Given the description of an element on the screen output the (x, y) to click on. 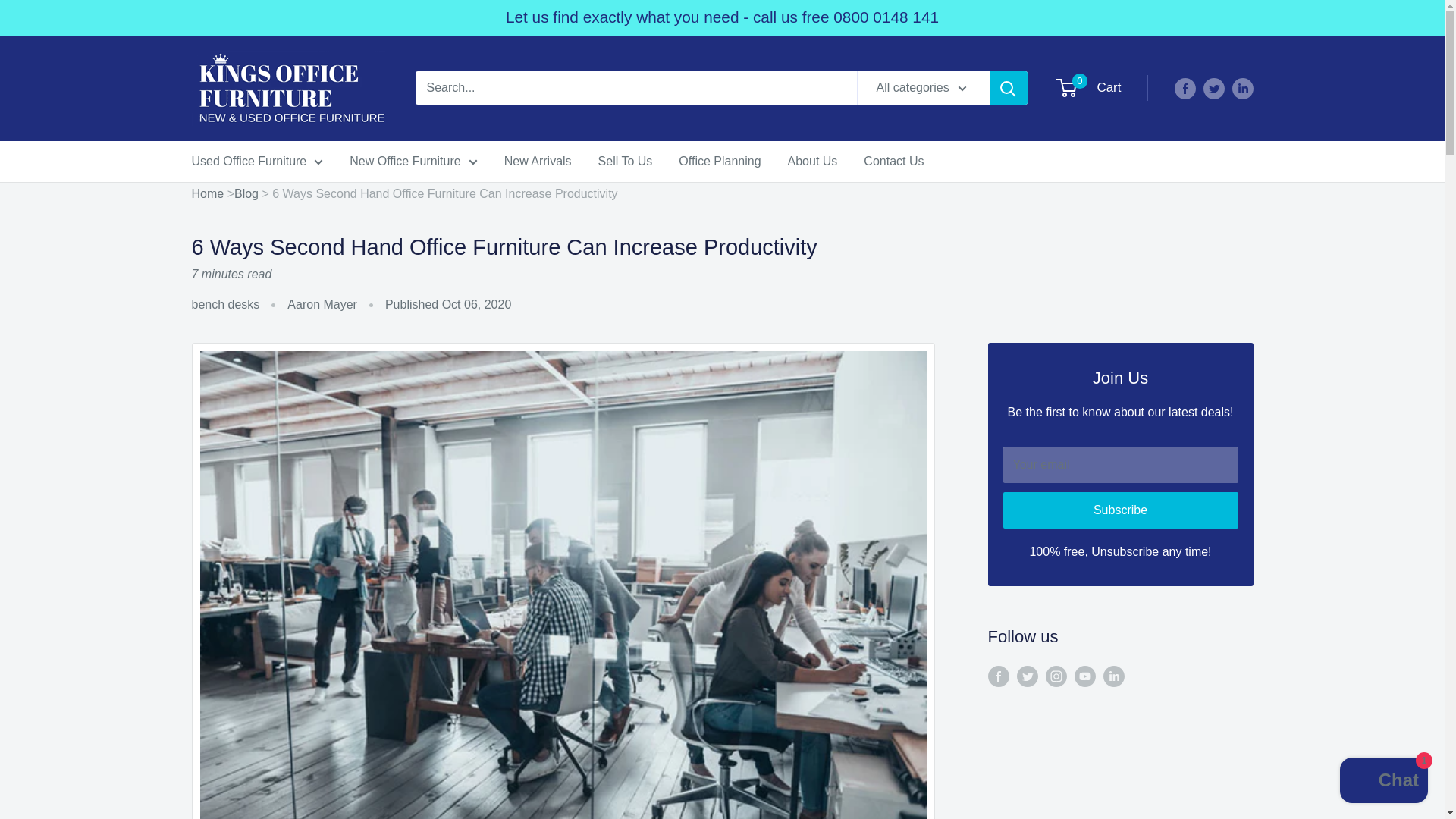
0800 0148 141 (885, 16)
Call Kings Office Furniture London office (885, 16)
